Given the description of an element on the screen output the (x, y) to click on. 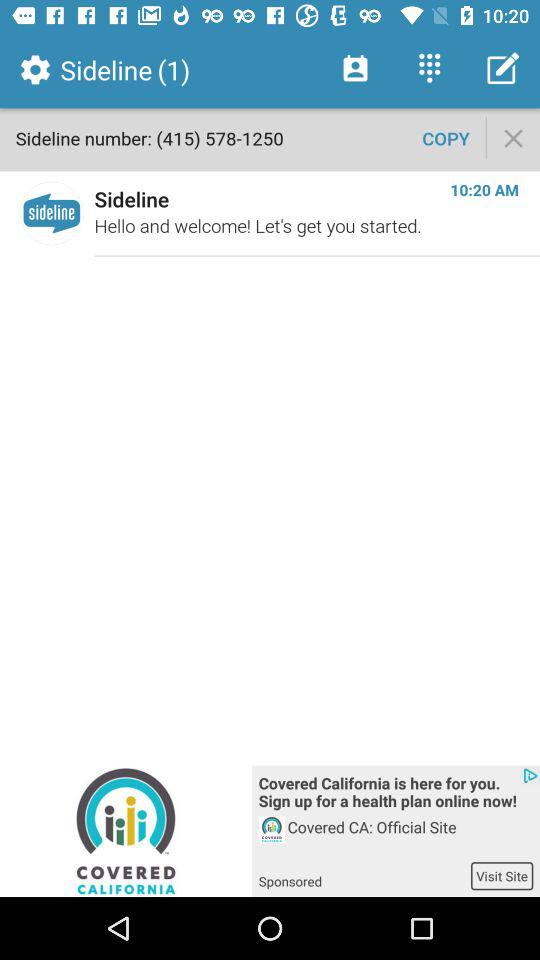
scroll to the visit site app (502, 876)
